Given the description of an element on the screen output the (x, y) to click on. 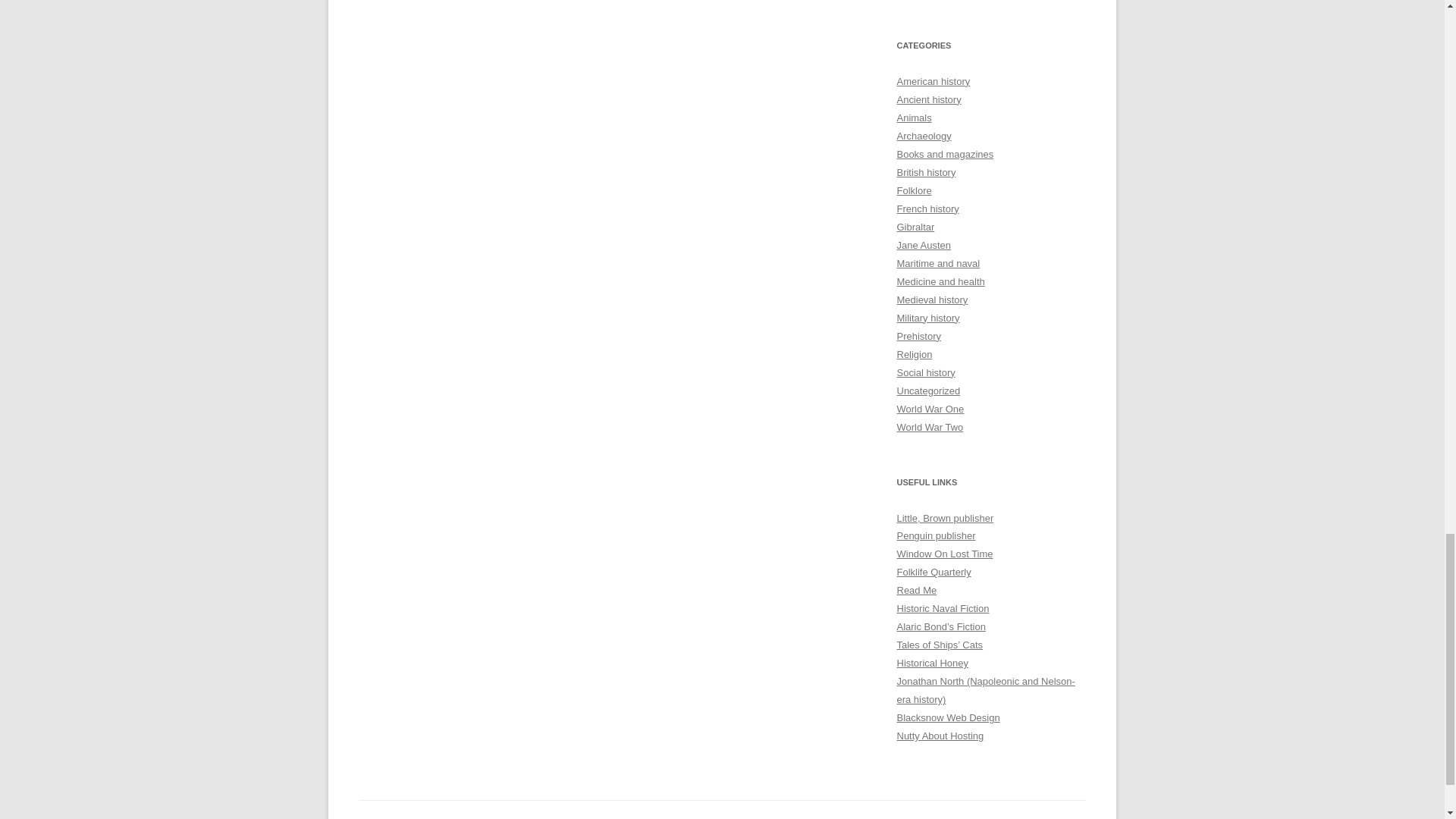
Websites, web apps, desktop applications and databases (947, 717)
Lively often quirky history pieces (932, 663)
Great books to read (916, 590)
Folk tradition, events, clubs, venues (933, 572)
Beautiful photography of time and place (944, 553)
Our books with Viking Penguin in the US (935, 535)
Our books with Little, Brown in UK (944, 518)
Age of sail fiction and some non-fiction (942, 608)
